Given the description of an element on the screen output the (x, y) to click on. 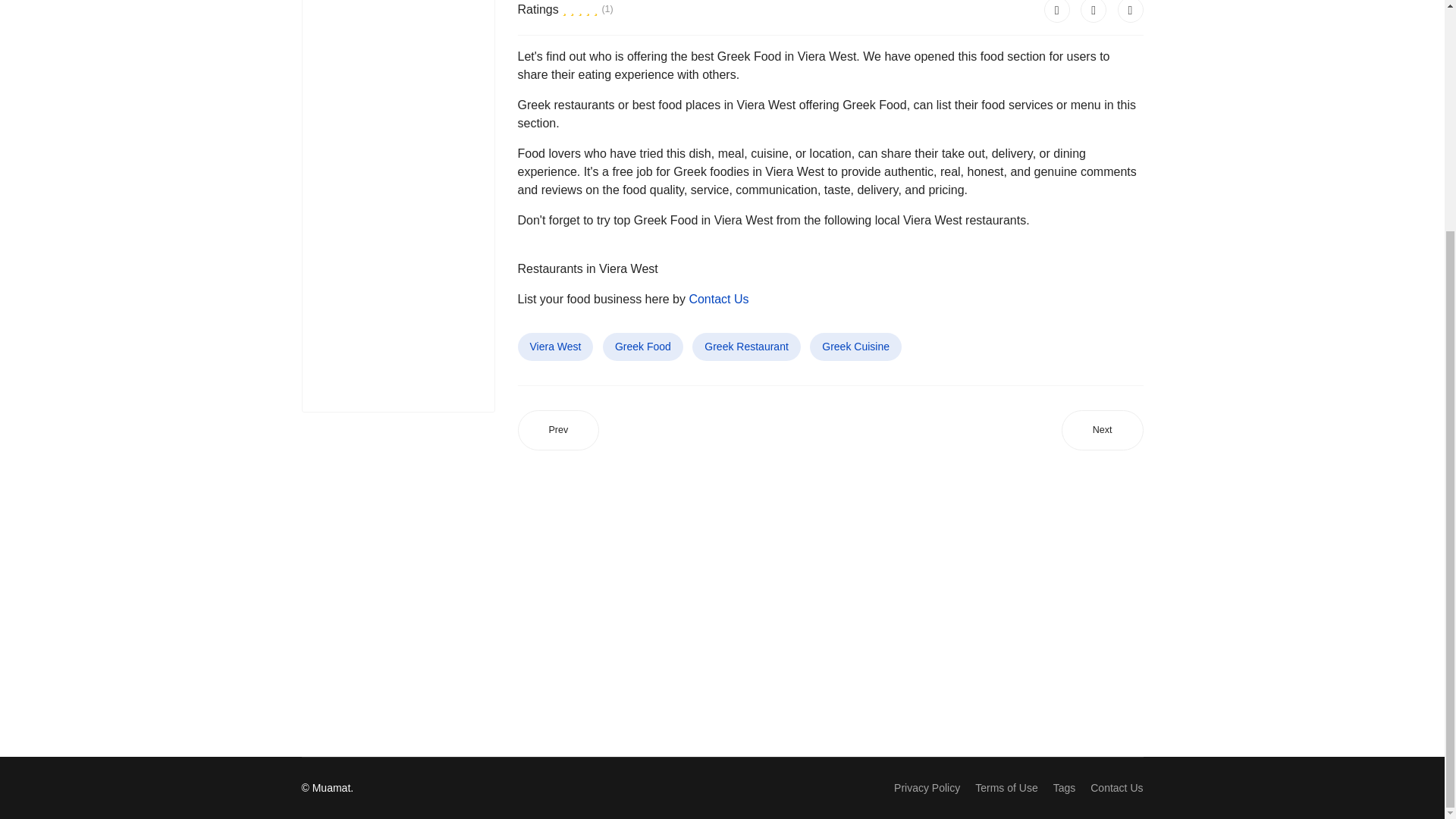
Terms of Use (1005, 788)
Prev (557, 430)
Greek Cuisine (855, 346)
Tags (1063, 788)
Contact Us (718, 298)
Greek Restaurant (746, 346)
Viera West (554, 346)
Next (1101, 430)
LinkedIn (1130, 11)
Contact Us (1116, 788)
